Given the description of an element on the screen output the (x, y) to click on. 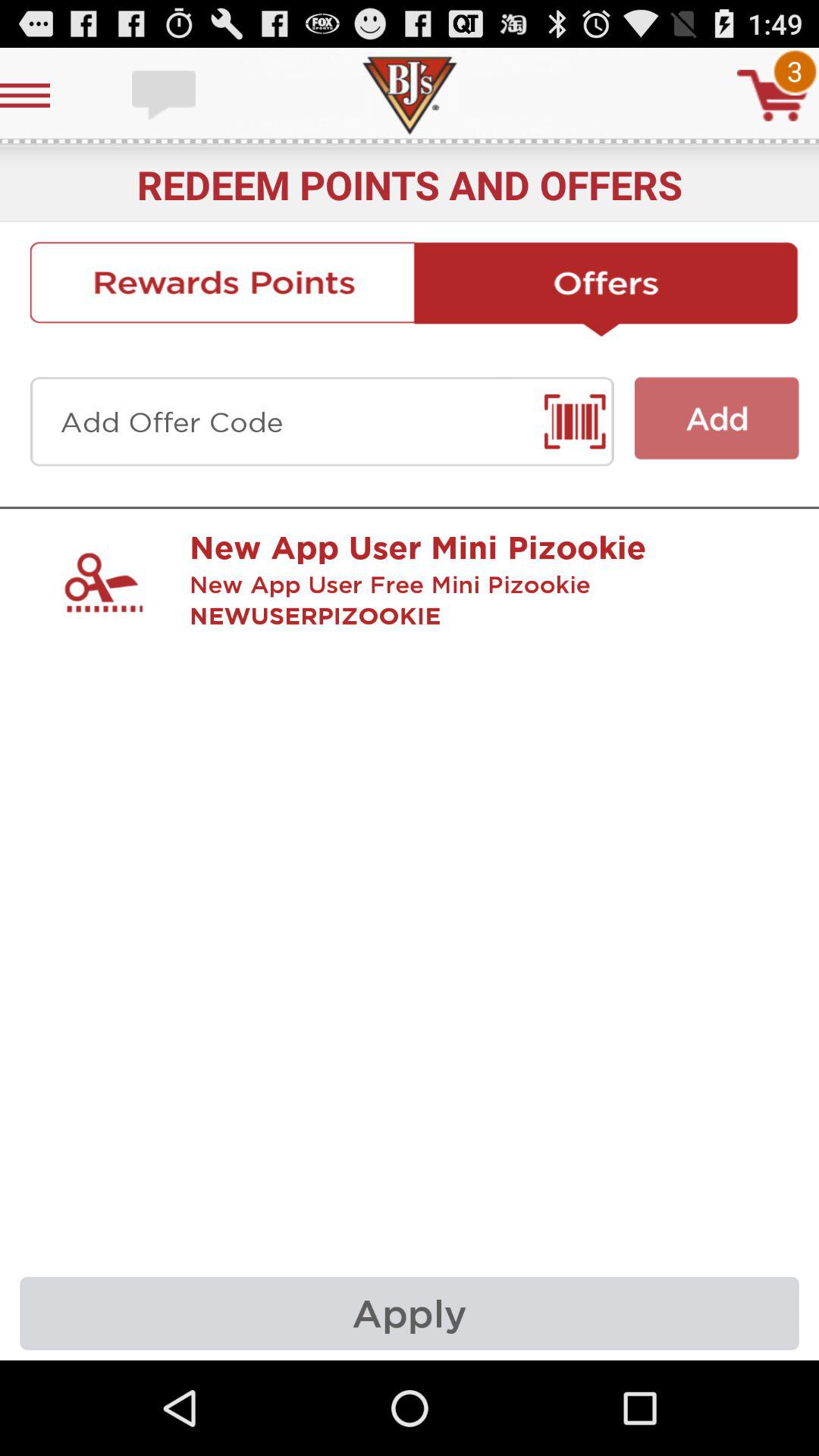
offers button (606, 289)
